Given the description of an element on the screen output the (x, y) to click on. 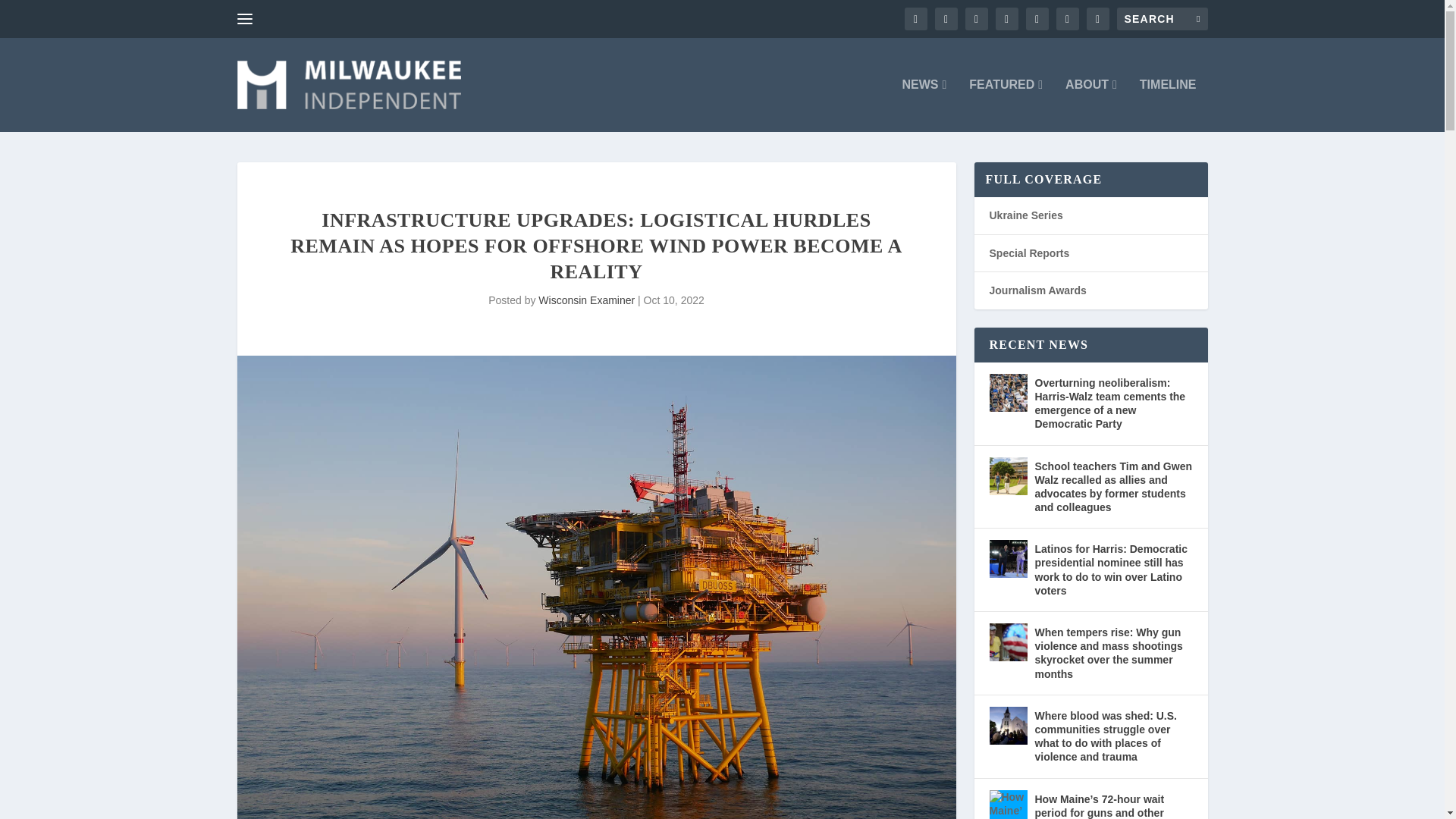
Search for: (1161, 18)
ABOUT (1090, 104)
TIMELINE (1168, 104)
Wisconsin Examiner (586, 300)
Posts by Wisconsin Examiner (586, 300)
FEATURED (1005, 104)
